Given the description of an element on the screen output the (x, y) to click on. 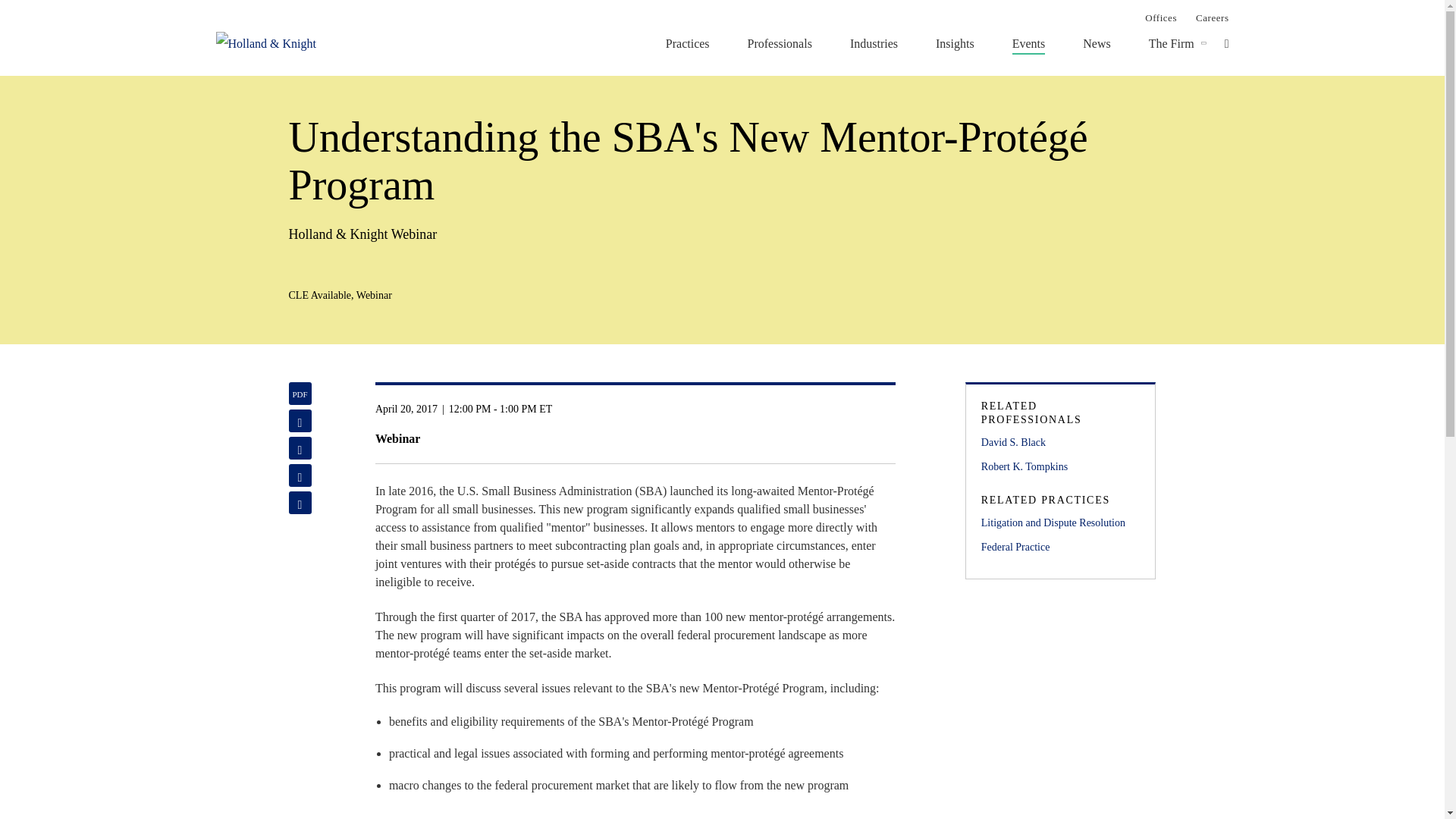
Practices (687, 42)
Offices (1160, 16)
Insights (955, 42)
Robert K. Tompkins (1060, 466)
Careers (1211, 16)
David S. Black (1060, 442)
The Firm (1170, 43)
Professionals (780, 42)
Industries (874, 42)
Events (1028, 42)
